Given the description of an element on the screen output the (x, y) to click on. 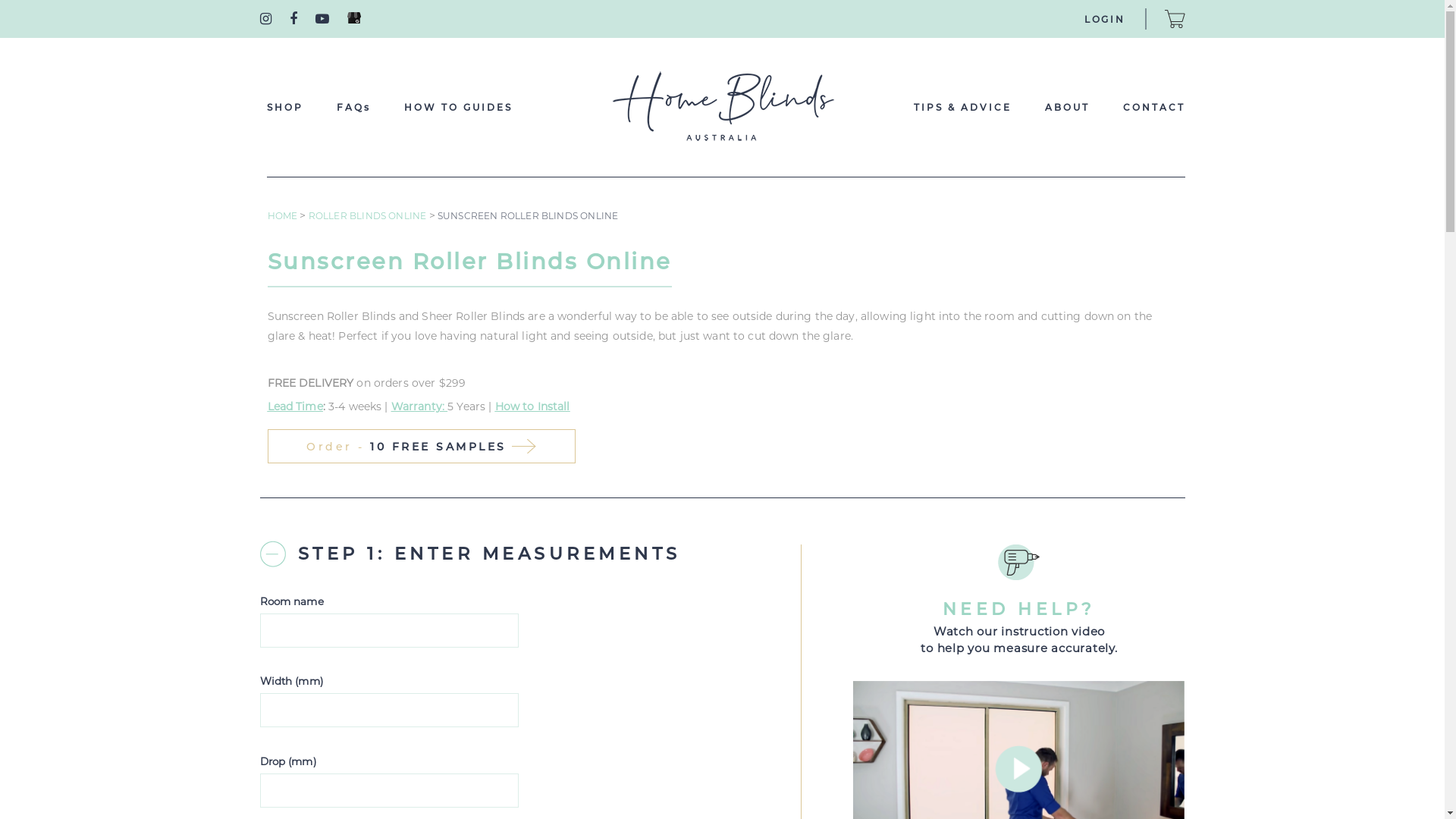
ABOUT Element type: text (1066, 108)
SHOP Element type: text (284, 108)
FAQs Element type: text (353, 108)
HOME Element type: text (282, 214)
How to Install Element type: text (532, 406)
Order - 10 FREE SAMPLES Element type: text (420, 446)
TIPS & ADVICE Element type: text (961, 108)
Warranty:  Element type: text (419, 406)
Lead Time Element type: text (294, 406)
HOW TO GUIDES Element type: text (457, 108)
CONTACT Element type: text (1153, 108)
LOGIN Element type: text (1104, 19)
ROLLER BLINDS ONLINE Element type: text (368, 214)
